Given the description of an element on the screen output the (x, y) to click on. 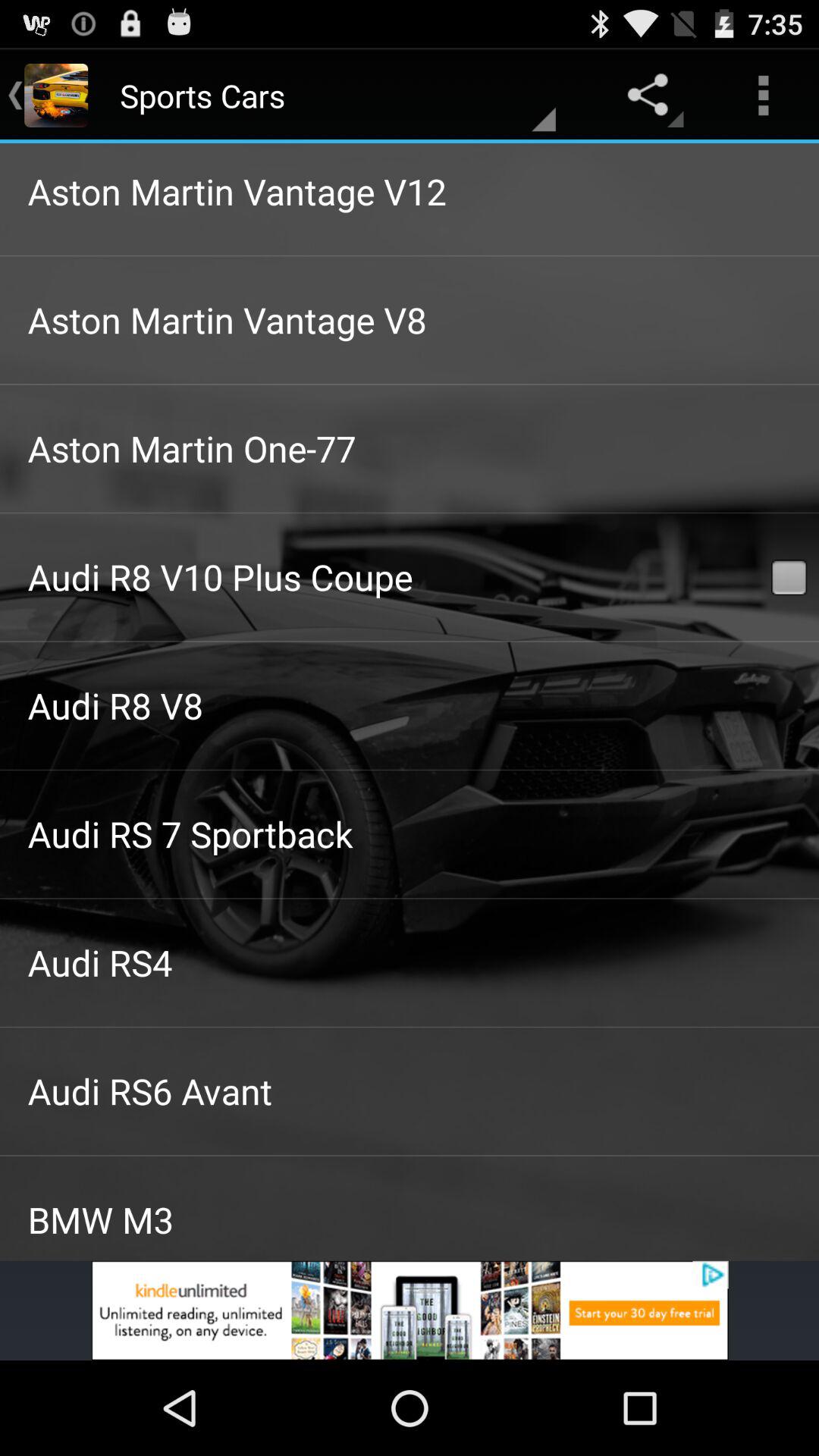
for advertisement (409, 1310)
